Given the description of an element on the screen output the (x, y) to click on. 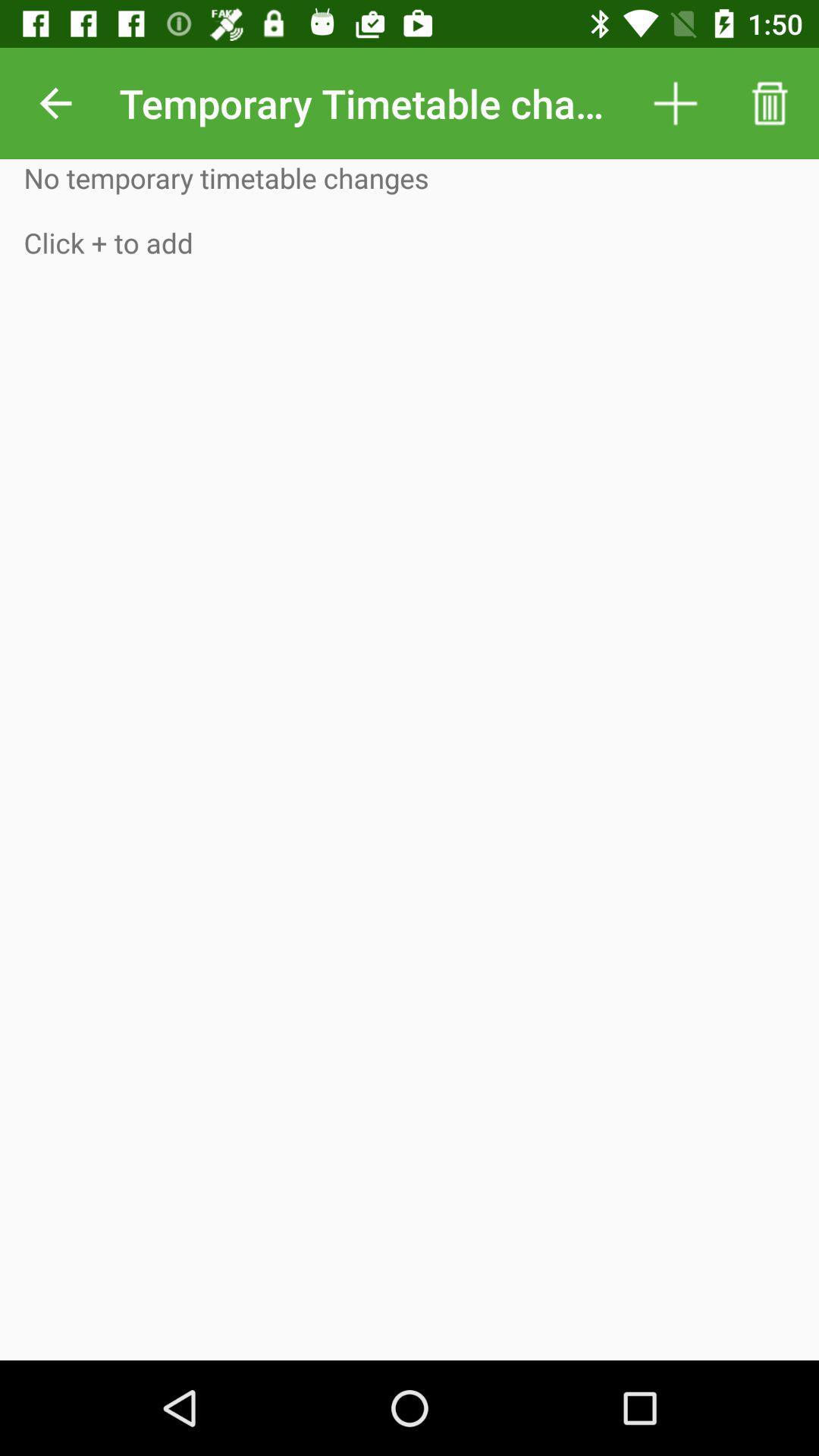
select icon next to temporary timetable changes item (55, 103)
